Given the description of an element on the screen output the (x, y) to click on. 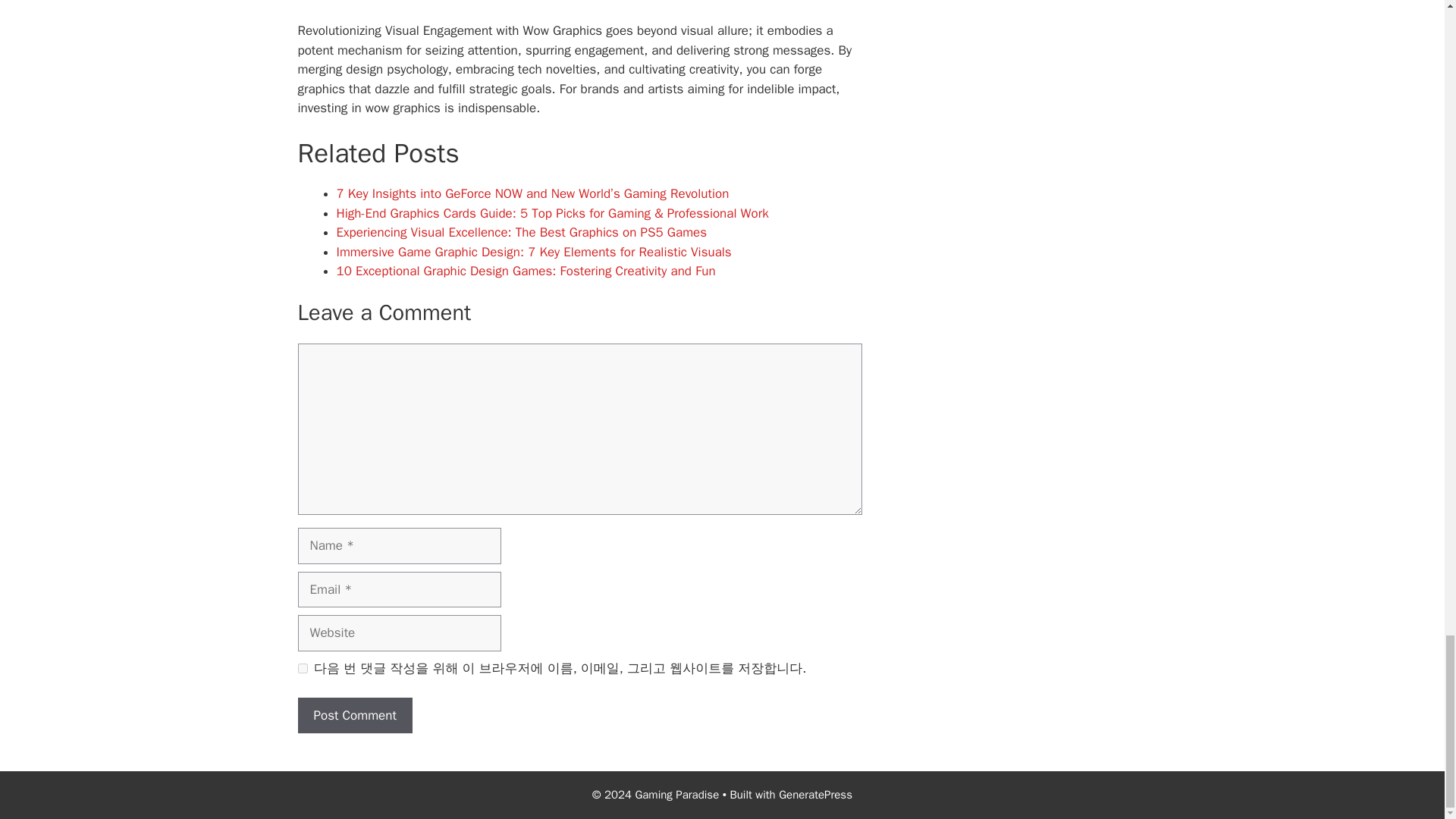
yes (302, 668)
Post Comment (354, 715)
Post Comment (354, 715)
